Given the description of an element on the screen output the (x, y) to click on. 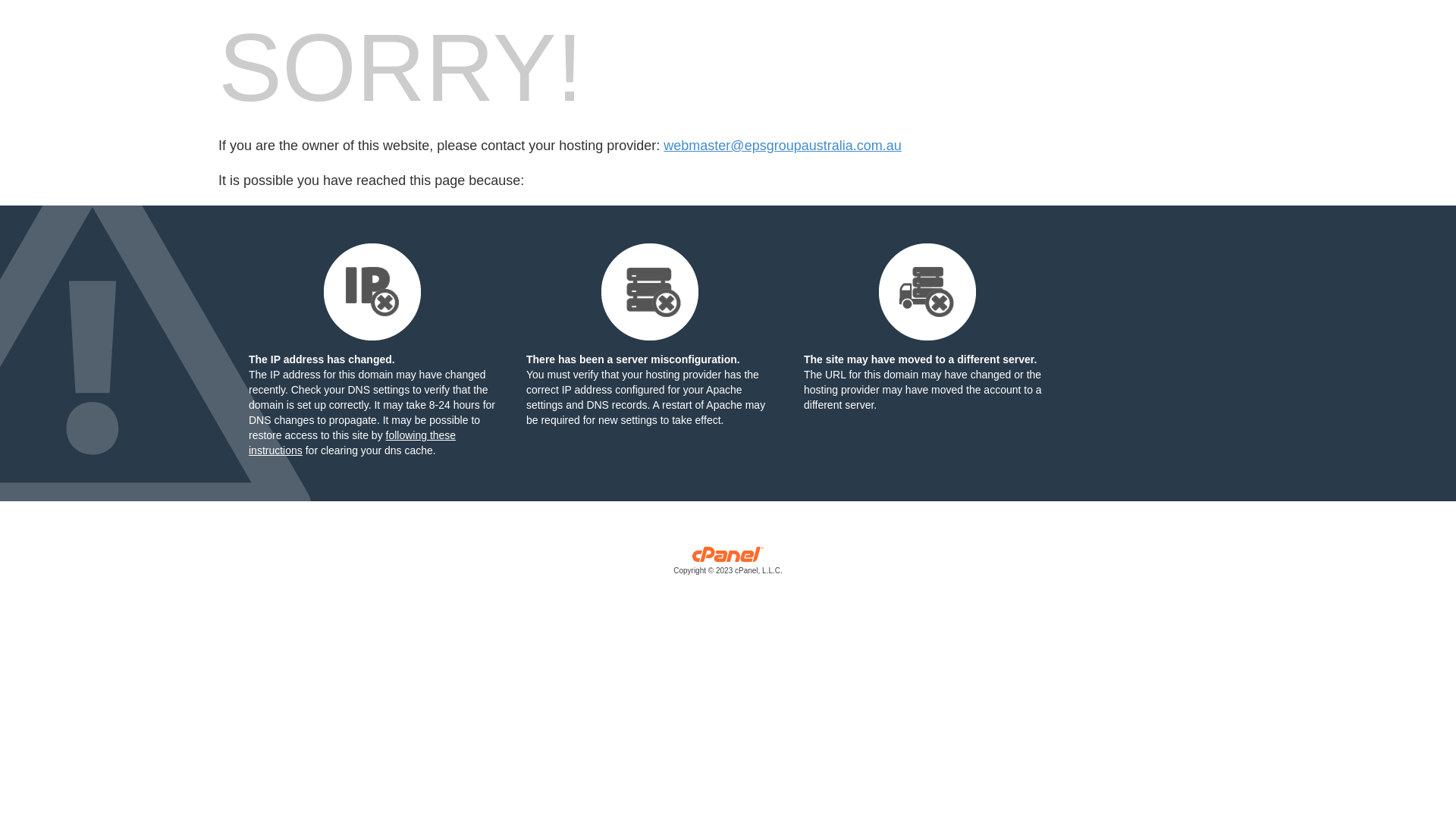
webmaster@epsgroupaustralia.com.au Element type: text (781, 145)
following these instructions Element type: text (351, 442)
